Given the description of an element on the screen output the (x, y) to click on. 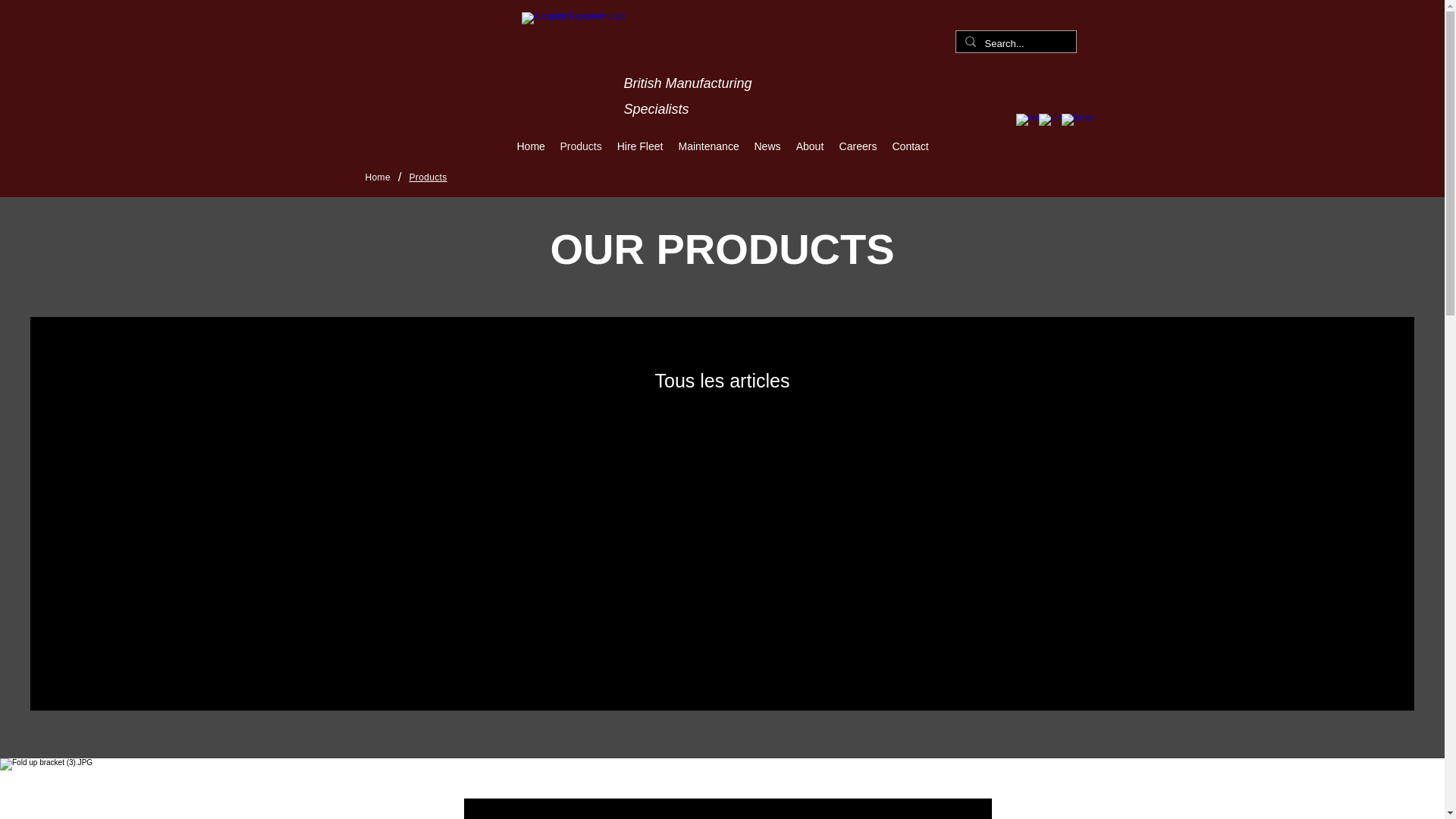
News (766, 146)
PXV Range (835, 654)
Products (427, 177)
Maintenance (707, 146)
Hinowa Tracked Winch (379, 654)
Pole Grab (1292, 654)
Heavy Duty Hitches (608, 654)
Home (377, 177)
Products (579, 146)
Hire Fleet (640, 146)
